Given the description of an element on the screen output the (x, y) to click on. 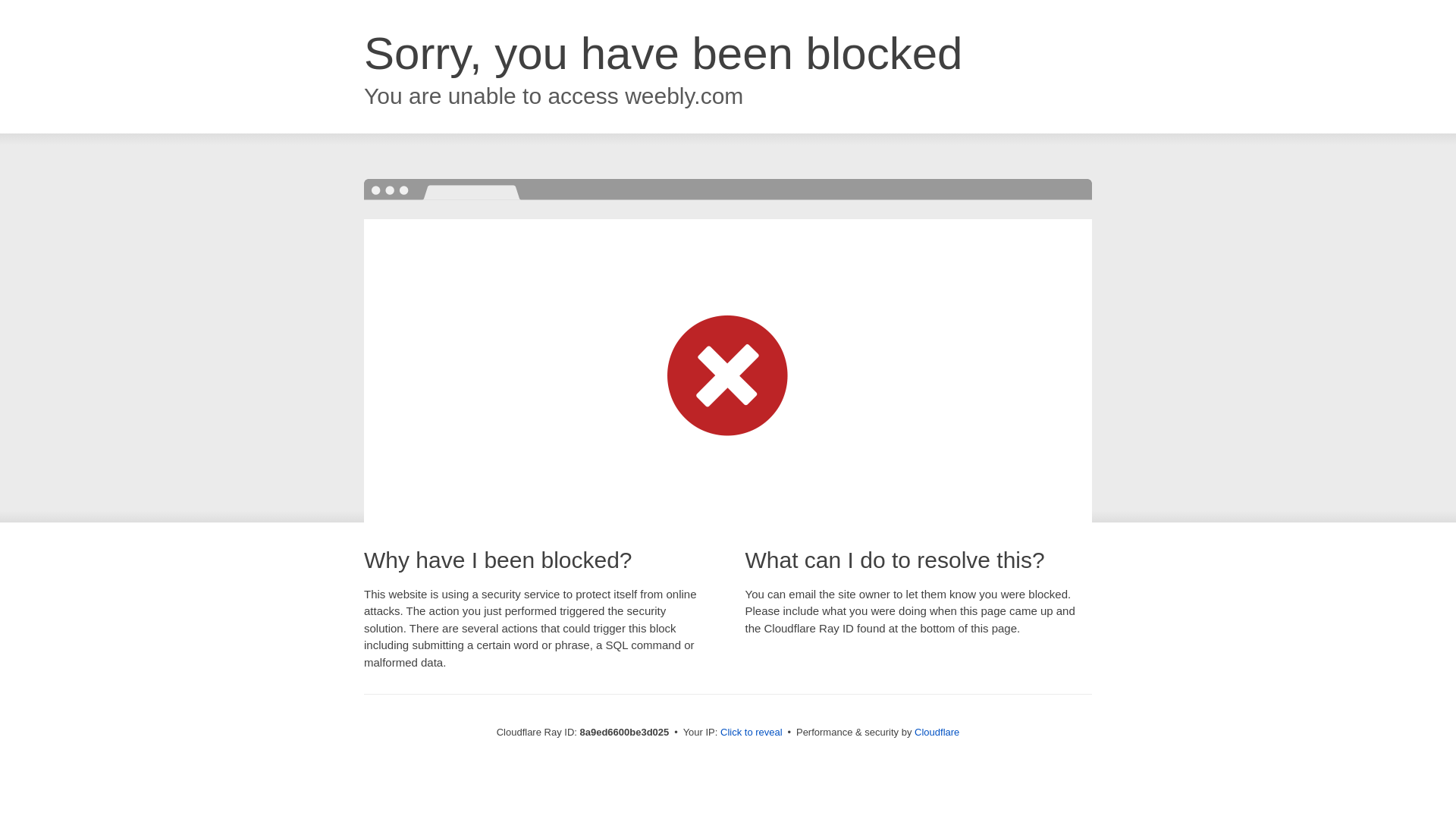
Cloudflare (936, 731)
Click to reveal (751, 732)
